Given the description of an element on the screen output the (x, y) to click on. 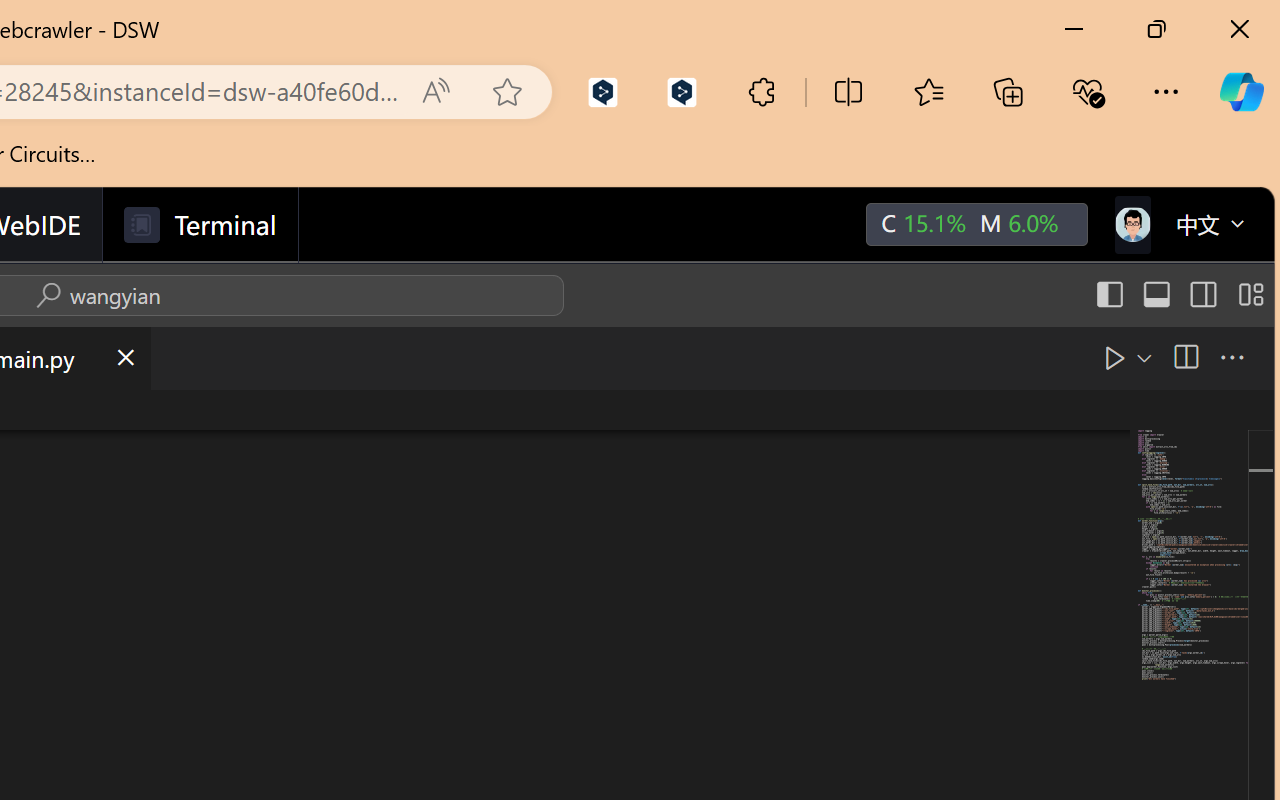
Toggle Panel (Ctrl+J) (1155, 295)
Toggle Primary Side Bar (Ctrl+B) (1108, 295)
More Actions... (1230, 357)
Title actions (1178, 295)
icon (1131, 220)
Editor actions (1176, 358)
Copilot (Ctrl+Shift+.) (1241, 91)
Toggle Secondary Side Bar (Ctrl+Alt+B) (1201, 295)
Class: next-menu next-hoz widgets--iconMenu--BFkiHRM (1131, 225)
